Given the description of an element on the screen output the (x, y) to click on. 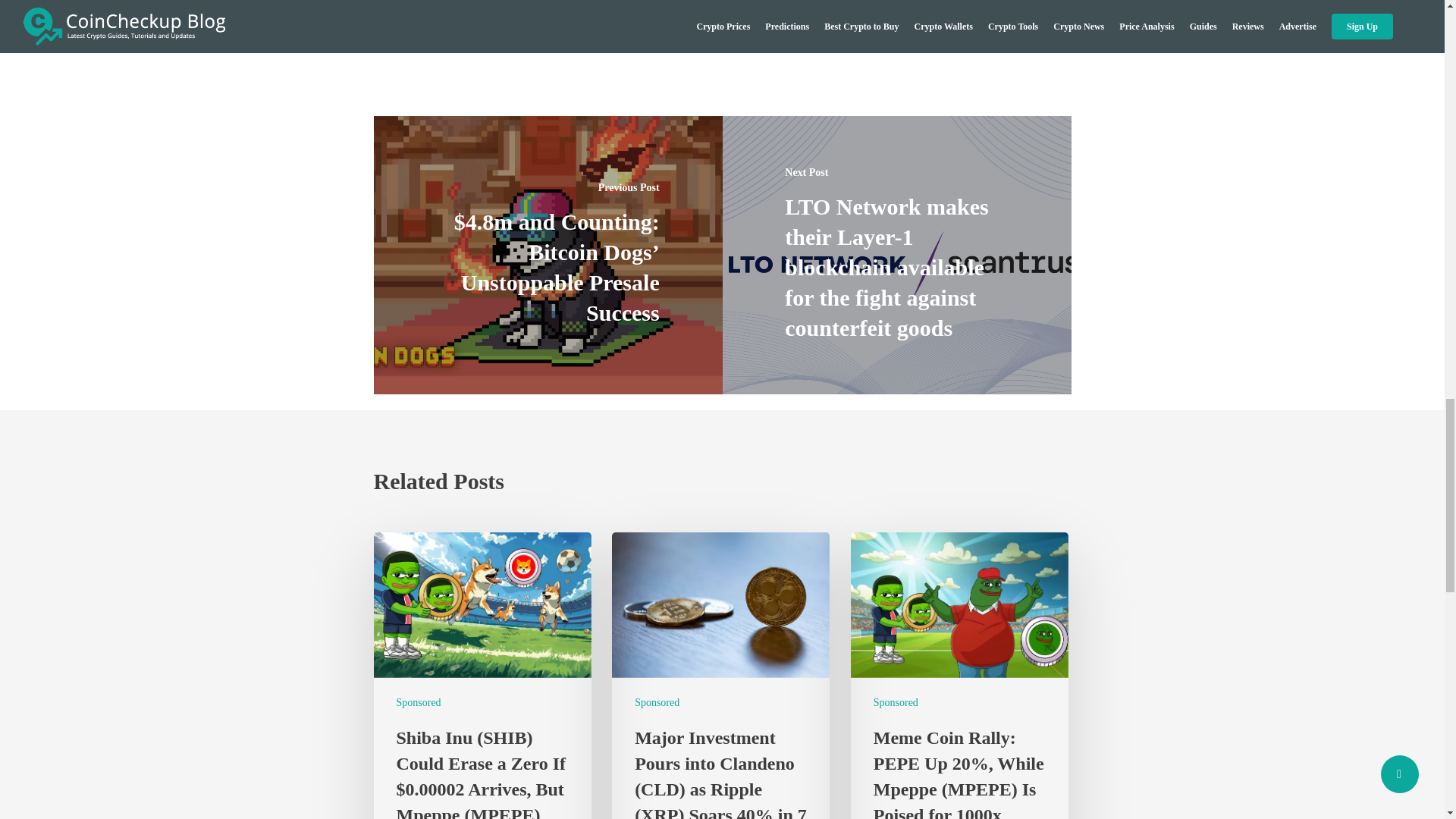
Sponsored (418, 702)
Sponsored (656, 702)
